Given the description of an element on the screen output the (x, y) to click on. 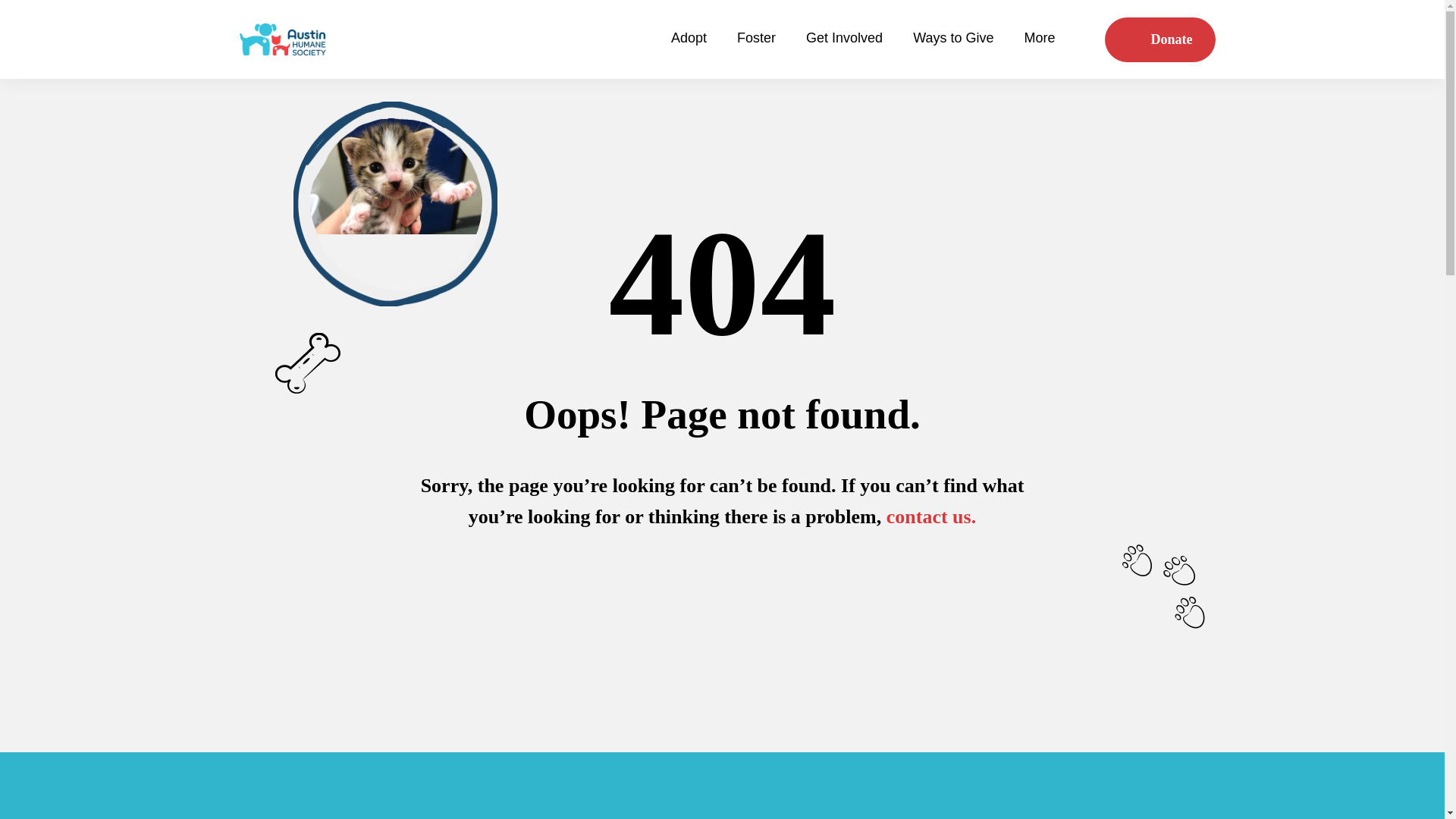
Ways to Give (952, 39)
More (1048, 39)
Foster (756, 39)
Get Involved (844, 39)
Donate (1158, 39)
Adopt (688, 39)
